Given the description of an element on the screen output the (x, y) to click on. 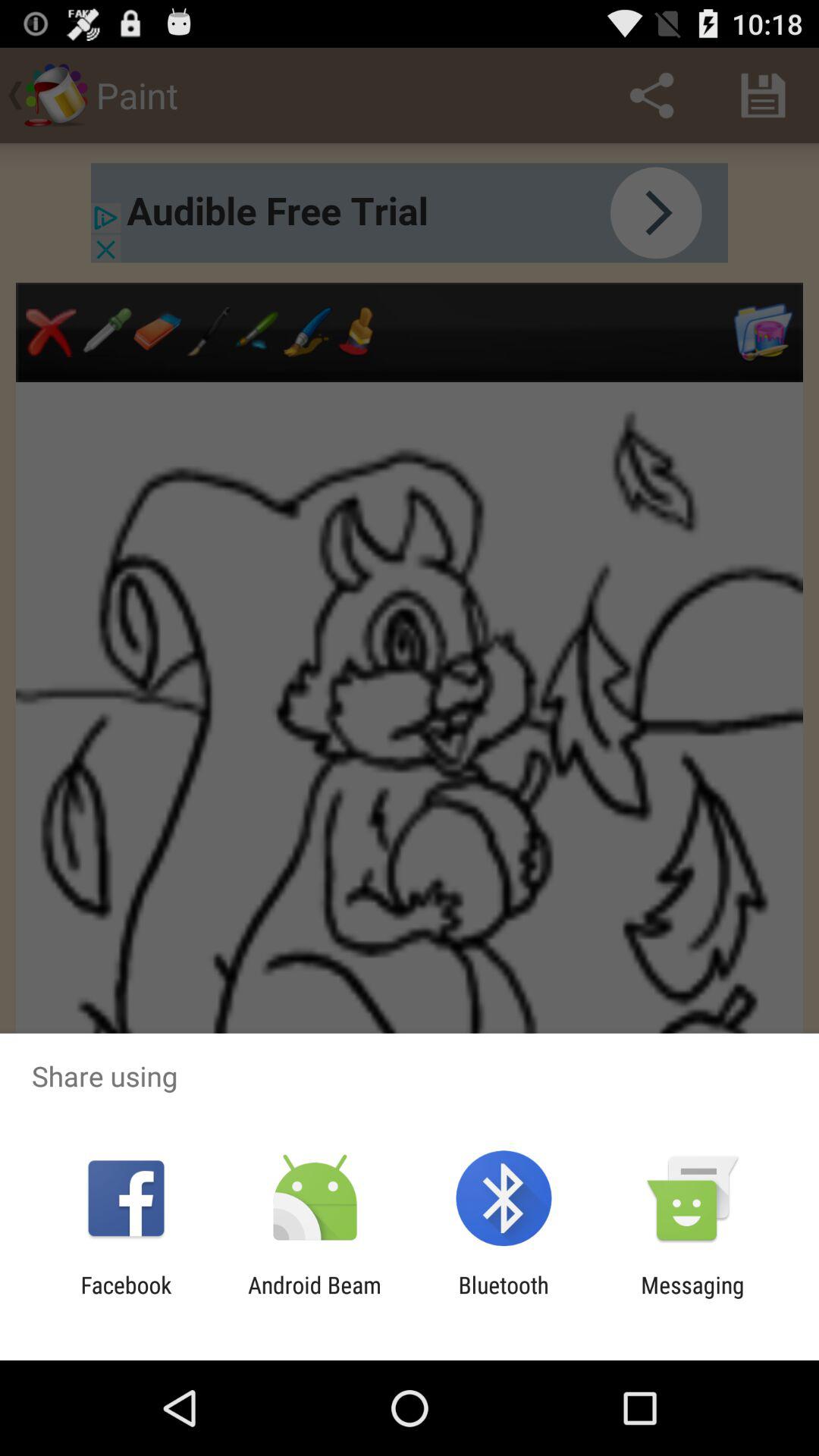
jump to messaging (692, 1298)
